Given the description of an element on the screen output the (x, y) to click on. 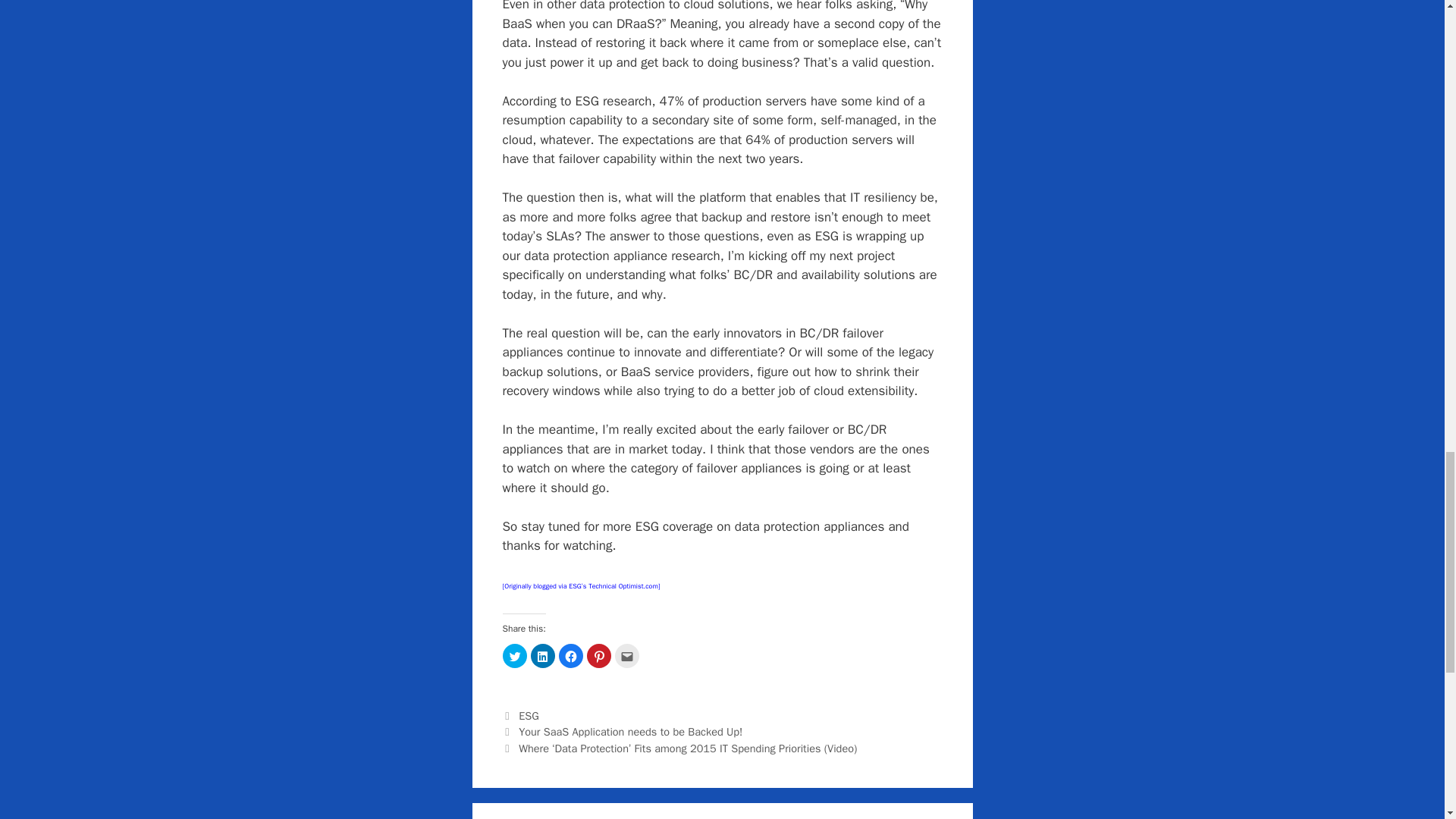
Click to email this to a friend (626, 655)
Technical Optimist.com (623, 584)
Click to share on LinkedIn (542, 655)
Click to share on Facebook (569, 655)
Previous (622, 731)
Click to share on Twitter (513, 655)
Your SaaS Application needs to be Backed Up! (630, 731)
ESG (528, 715)
Click to share on Pinterest (598, 655)
Next (679, 748)
